Given the description of an element on the screen output the (x, y) to click on. 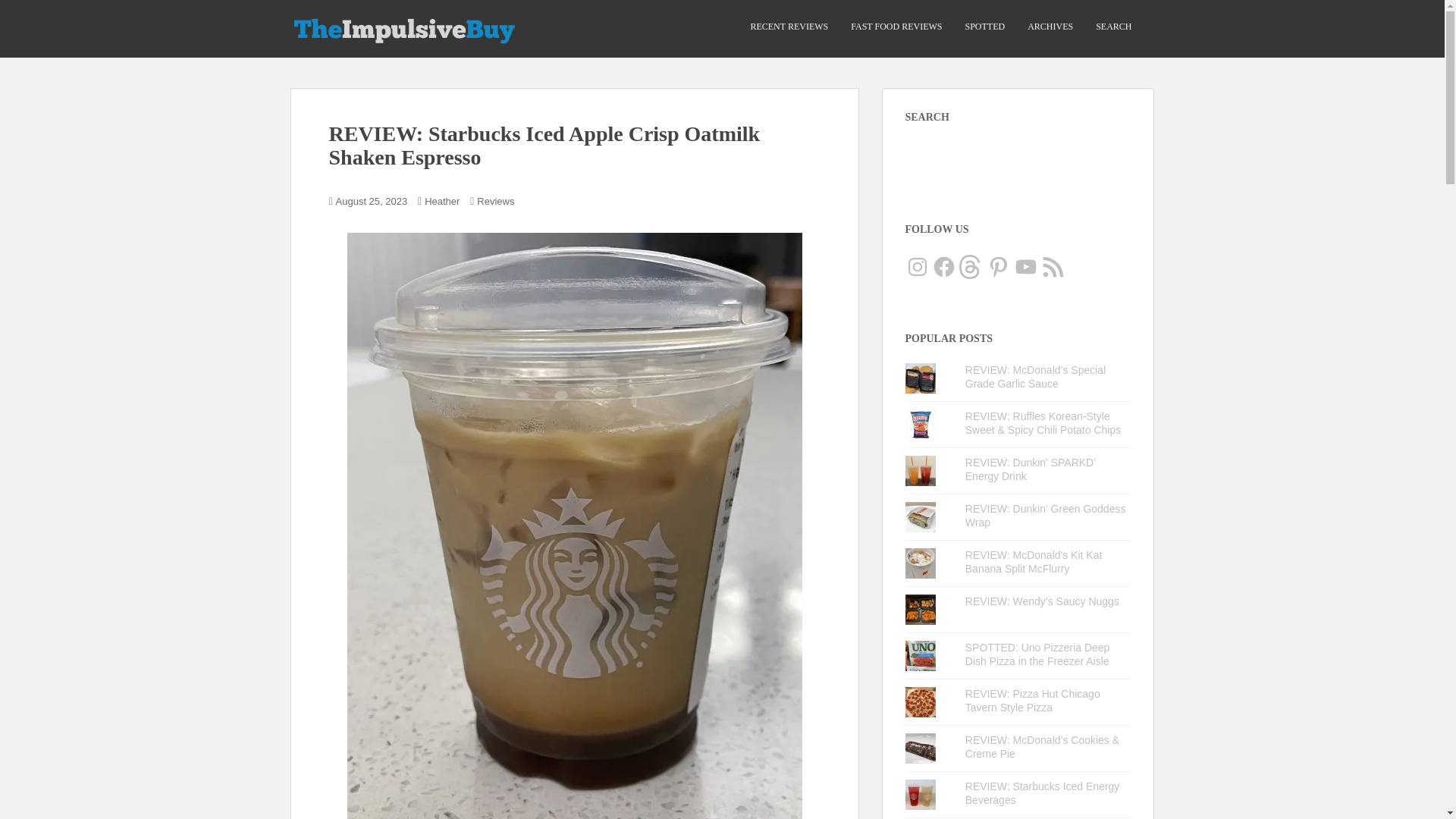
SPOTTED (983, 26)
August 25, 2023 (371, 201)
Threads (971, 266)
SEARCH (1113, 26)
Pinterest (998, 266)
RECENT REVIEWS (788, 26)
Instagram (917, 266)
Reviews (495, 201)
FAST FOOD REVIEWS (896, 26)
Facebook (943, 266)
Heather (442, 201)
ARCHIVES (1050, 26)
